Given the description of an element on the screen output the (x, y) to click on. 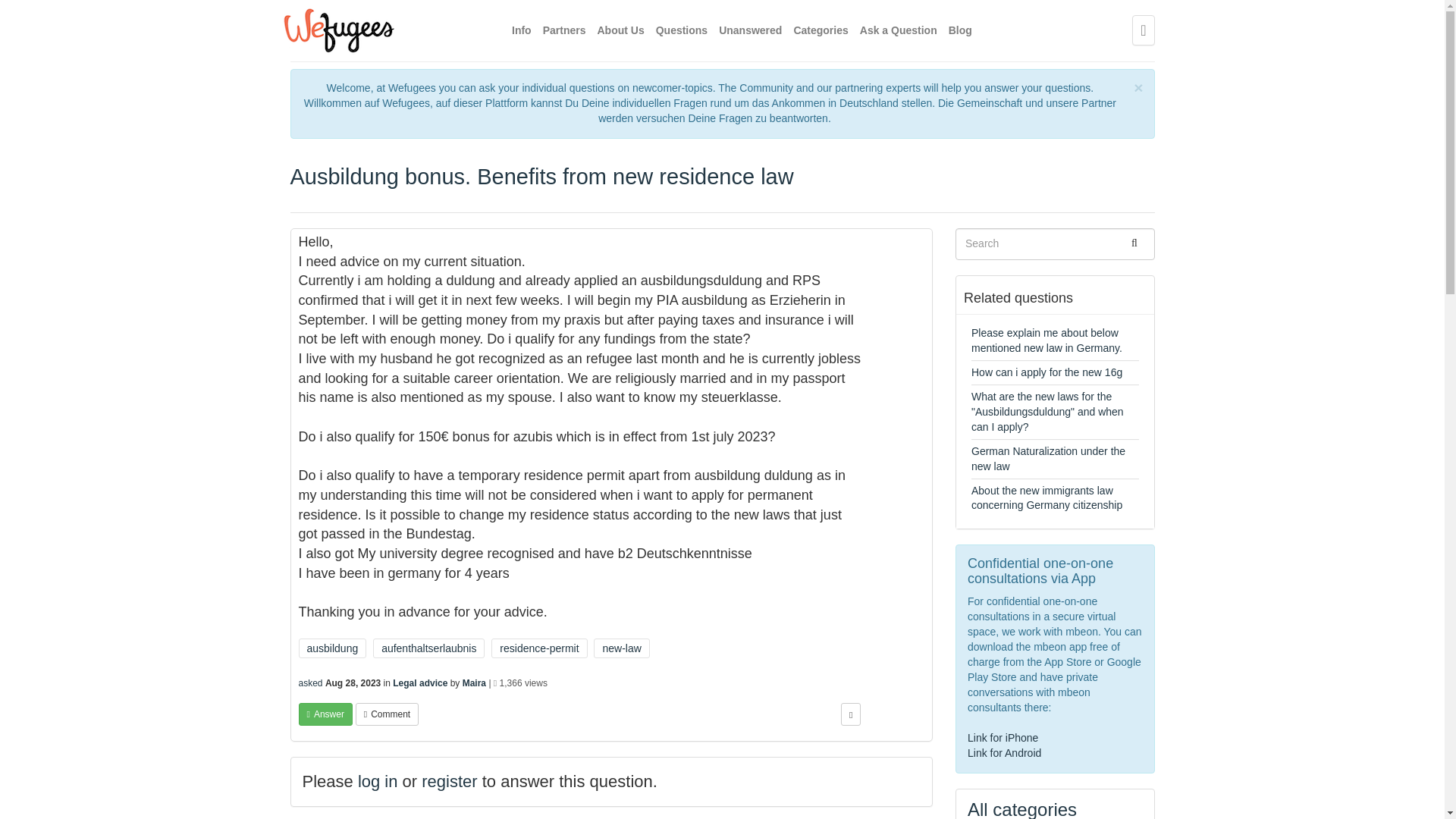
Comment (387, 713)
new-law (621, 648)
Maira (474, 683)
Categories (820, 30)
ausbildung (332, 648)
Ausbildung bonus. Benefits from new residence law (541, 176)
Legal advice (419, 683)
Answer (325, 713)
asked (310, 683)
residence-permit (539, 648)
Ask a Question (898, 30)
log in (377, 781)
register (449, 781)
Questions (681, 30)
Unanswered (750, 30)
